Given the description of an element on the screen output the (x, y) to click on. 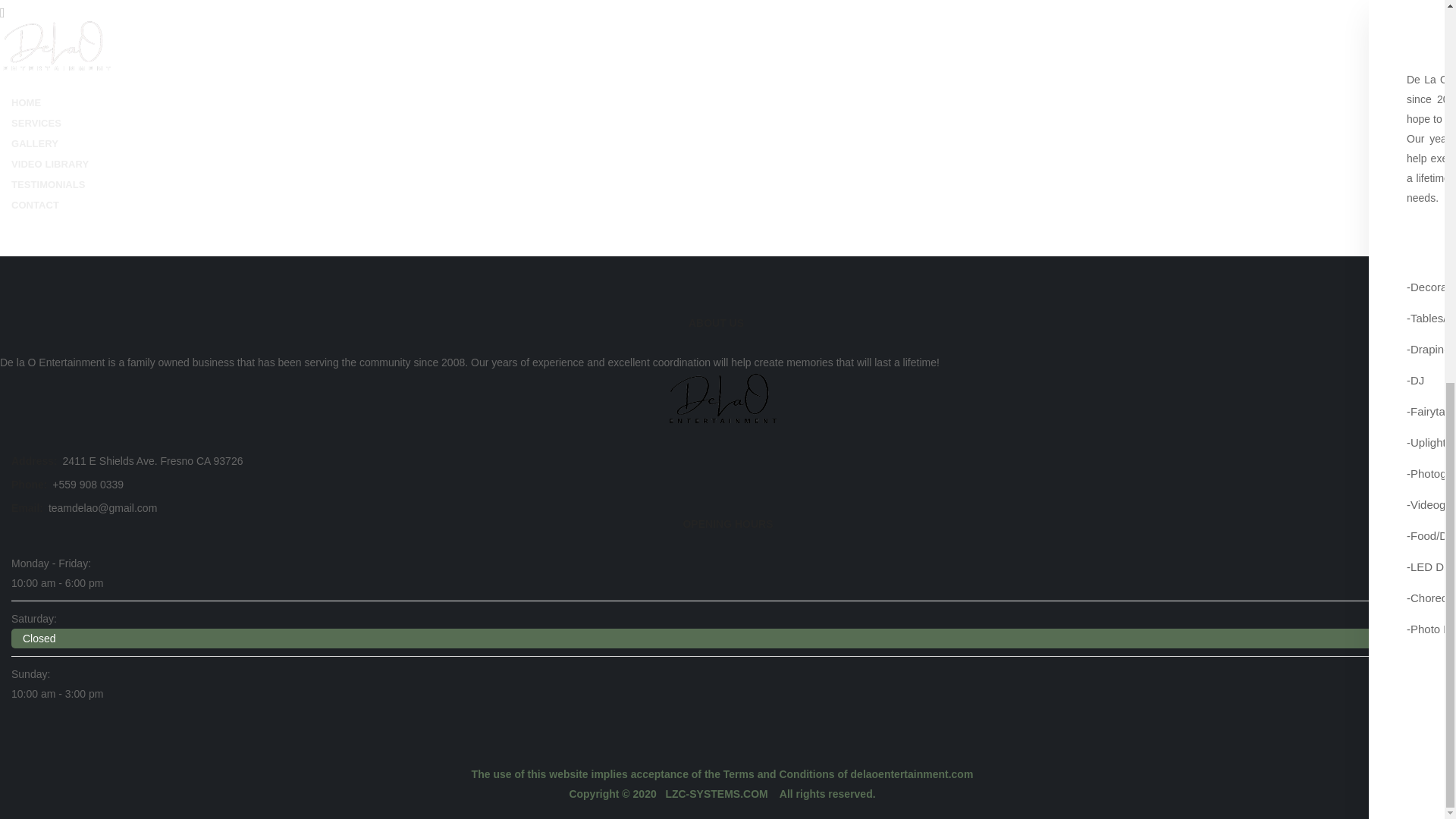
LZC-SYSTEMS.COM (717, 793)
